Given the description of an element on the screen output the (x, y) to click on. 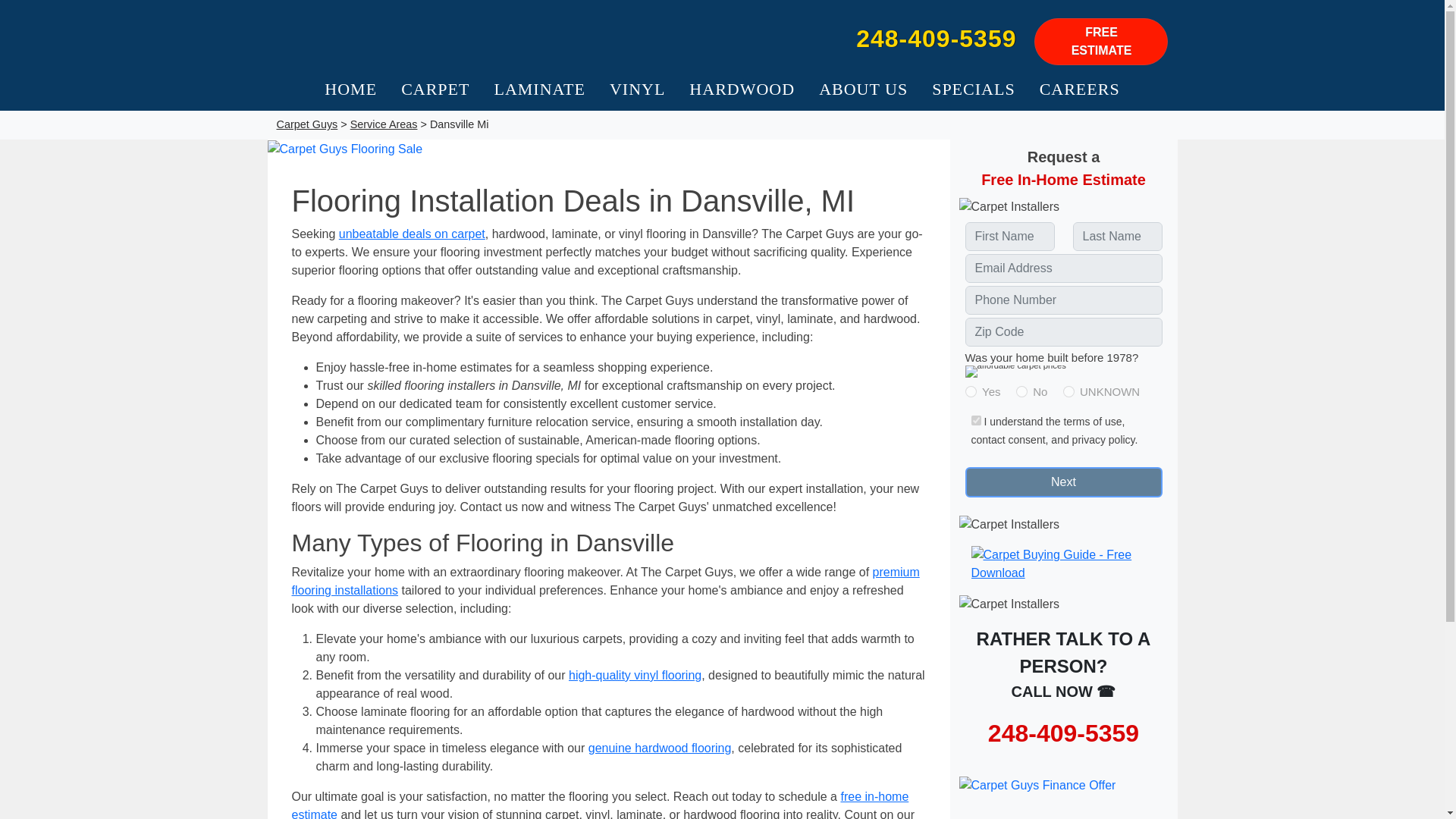
248-409-5359 (1063, 732)
CARPET (434, 89)
unbeatable deals on carpet (411, 233)
VINYL (636, 89)
yes (969, 391)
free in-home estimate (599, 804)
FREE ESTIMATE (1100, 41)
Service Areas (383, 123)
CAREERS (1079, 89)
Carpet Guys (494, 38)
248-409-5359 (936, 38)
privacy policy (1103, 439)
contact consent (1008, 439)
yes (975, 420)
LAMINATE (538, 89)
